Given the description of an element on the screen output the (x, y) to click on. 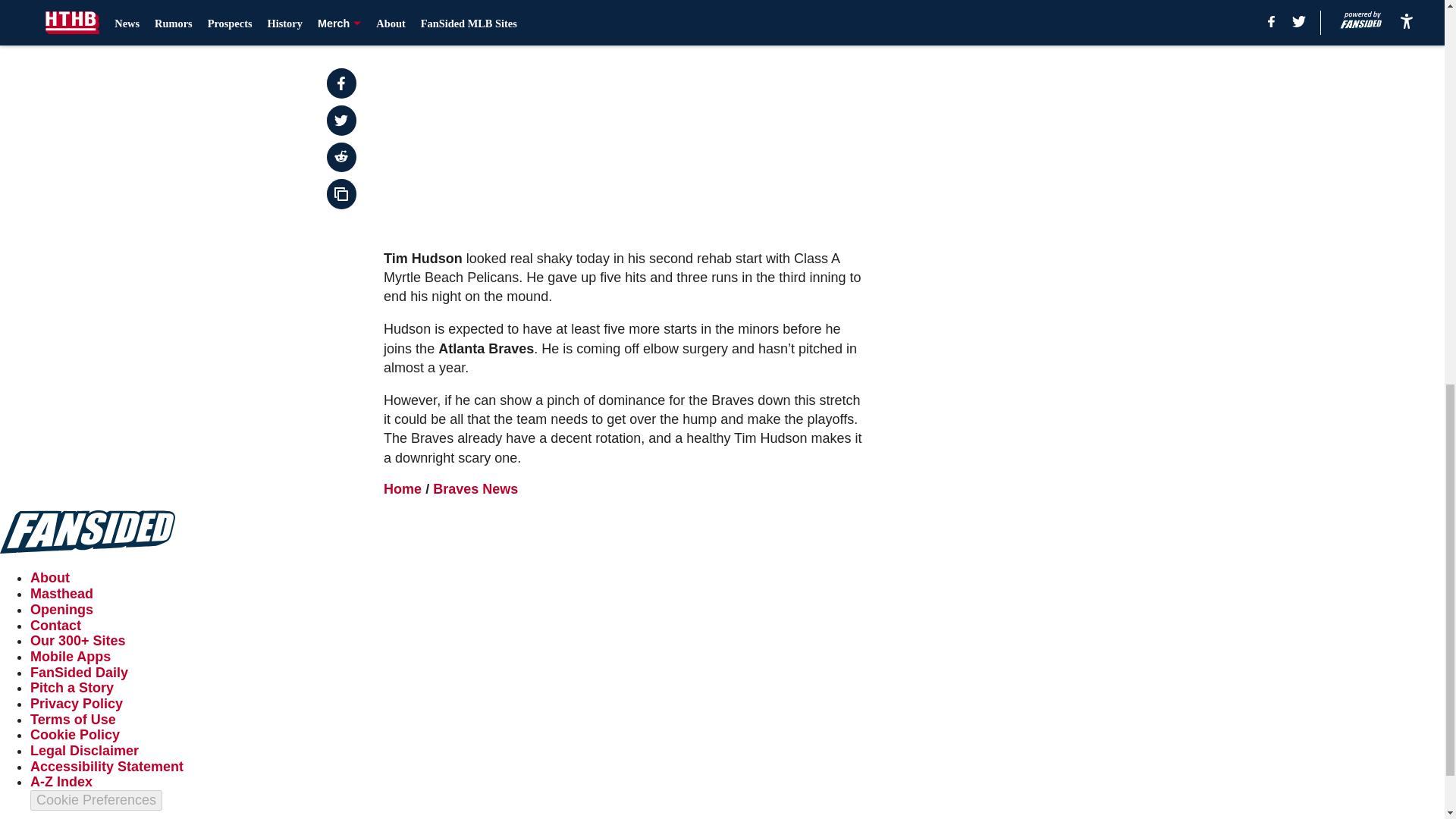
About (49, 577)
Home (403, 488)
Contact (55, 625)
Mobile Apps (70, 656)
FanSided Daily (79, 672)
Privacy Policy (76, 703)
Braves News (475, 488)
Masthead (61, 593)
Openings (61, 609)
Pitch a Story (71, 687)
